Given the description of an element on the screen output the (x, y) to click on. 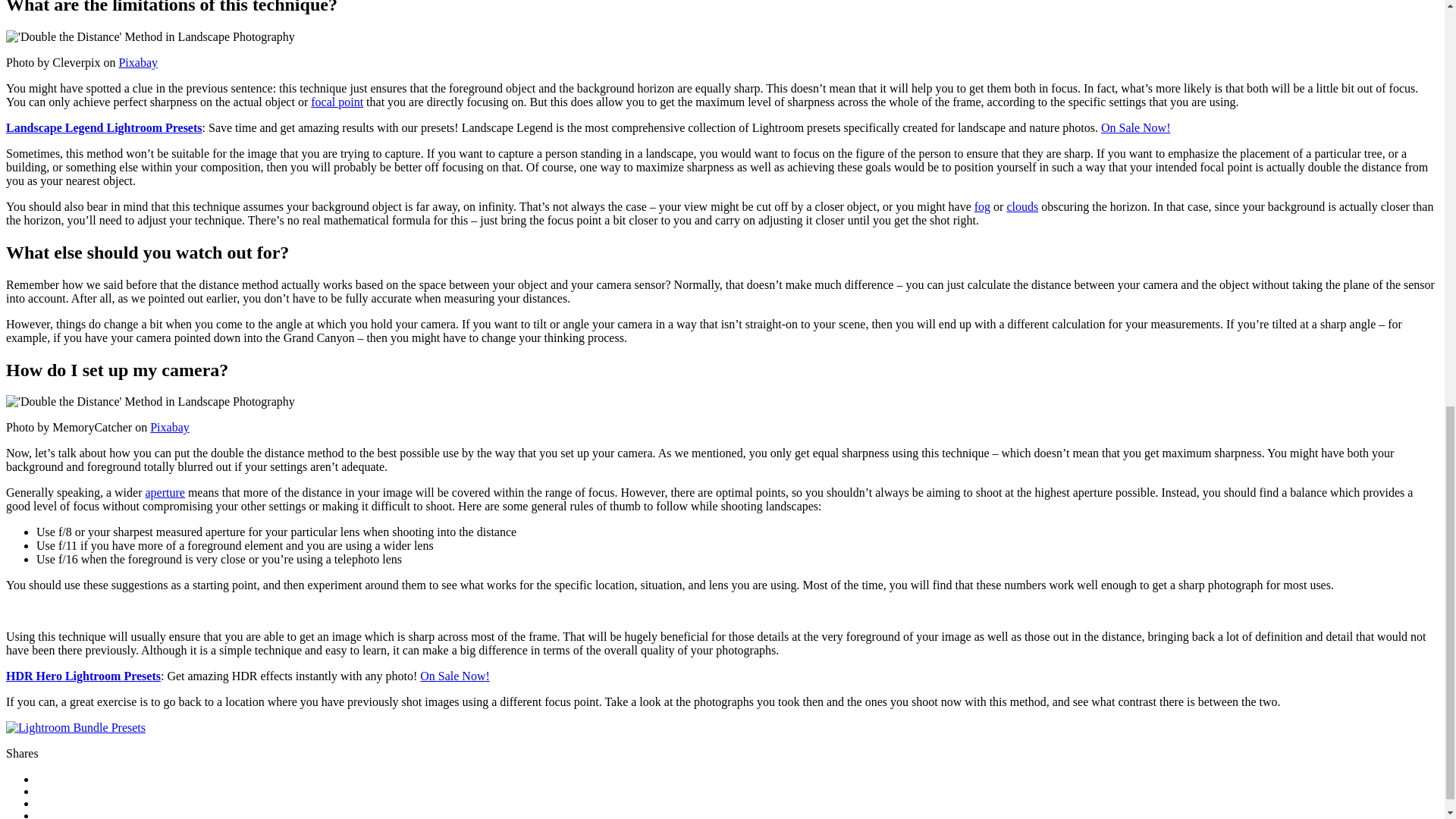
focal point (336, 101)
aperture (164, 492)
clouds (1022, 205)
On Sale Now! (1135, 127)
Pixabay (137, 62)
Pixabay (169, 427)
Landscape Legend Lightroom Presets (103, 127)
HDR Hero Lightroom Presets (82, 675)
fog (982, 205)
On Sale Now! (454, 675)
